Given the description of an element on the screen output the (x, y) to click on. 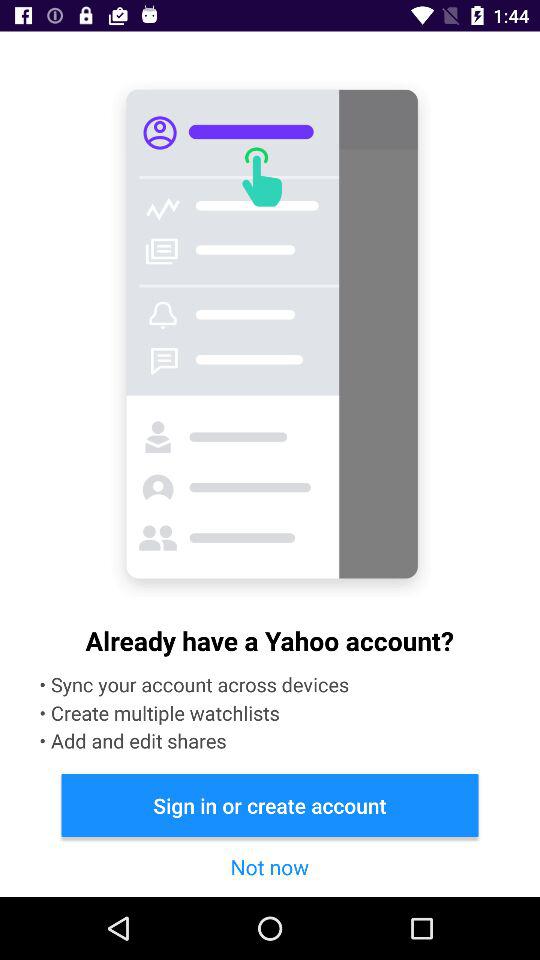
turn off icon below sync your account icon (269, 804)
